Given the description of an element on the screen output the (x, y) to click on. 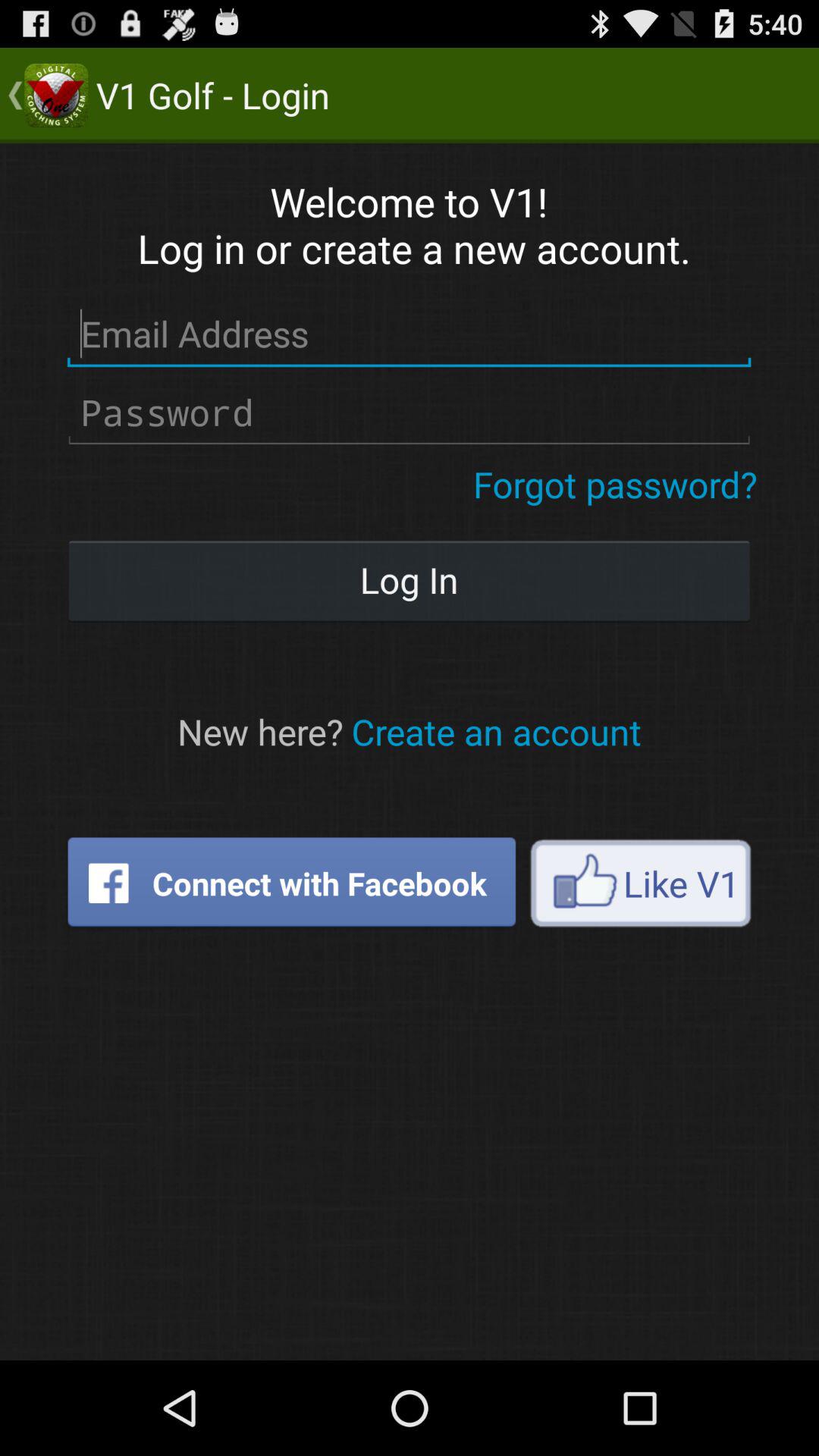
turn on the like v1 icon (639, 883)
